Given the description of an element on the screen output the (x, y) to click on. 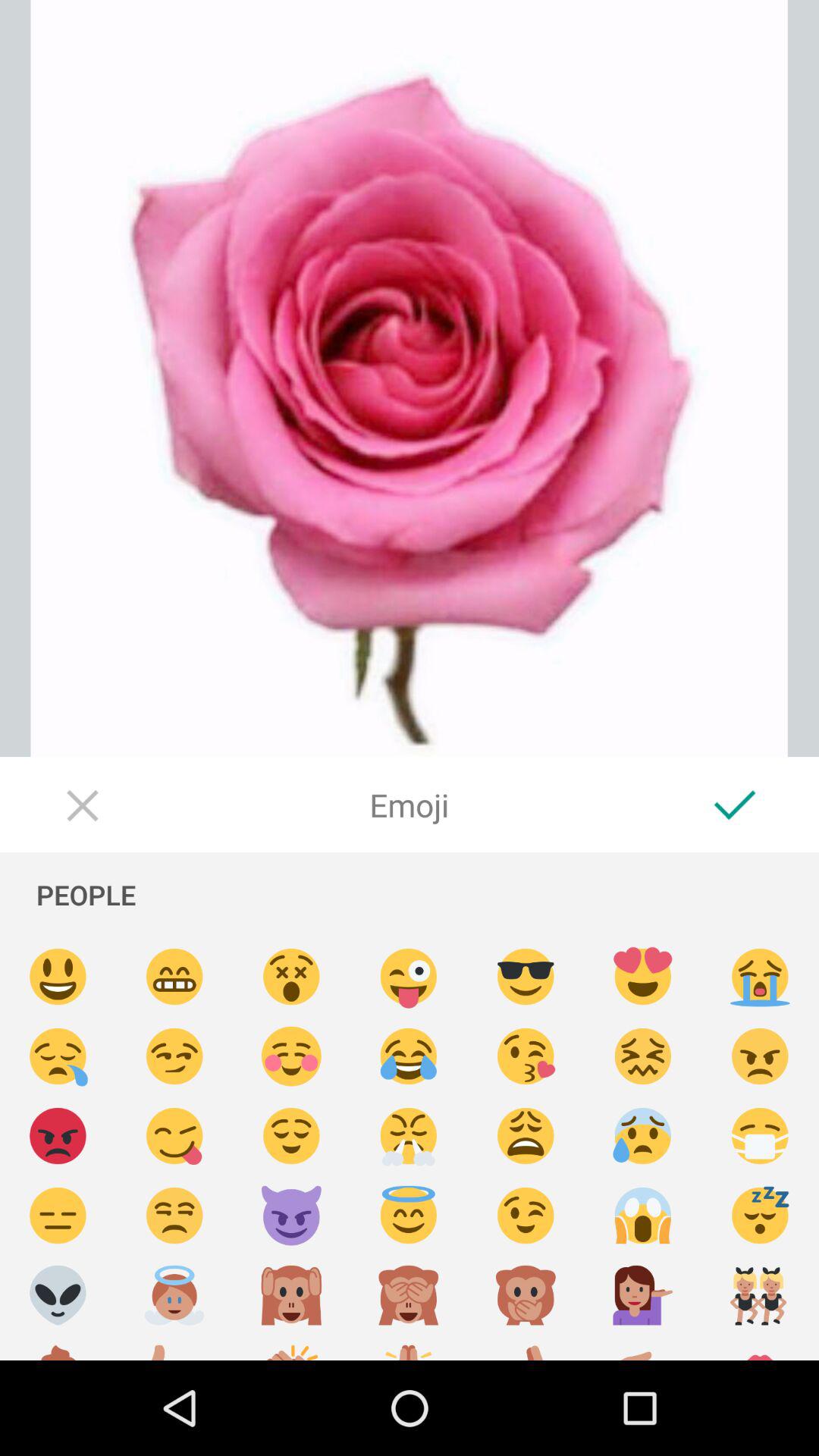
select color (642, 1295)
